Given the description of an element on the screen output the (x, y) to click on. 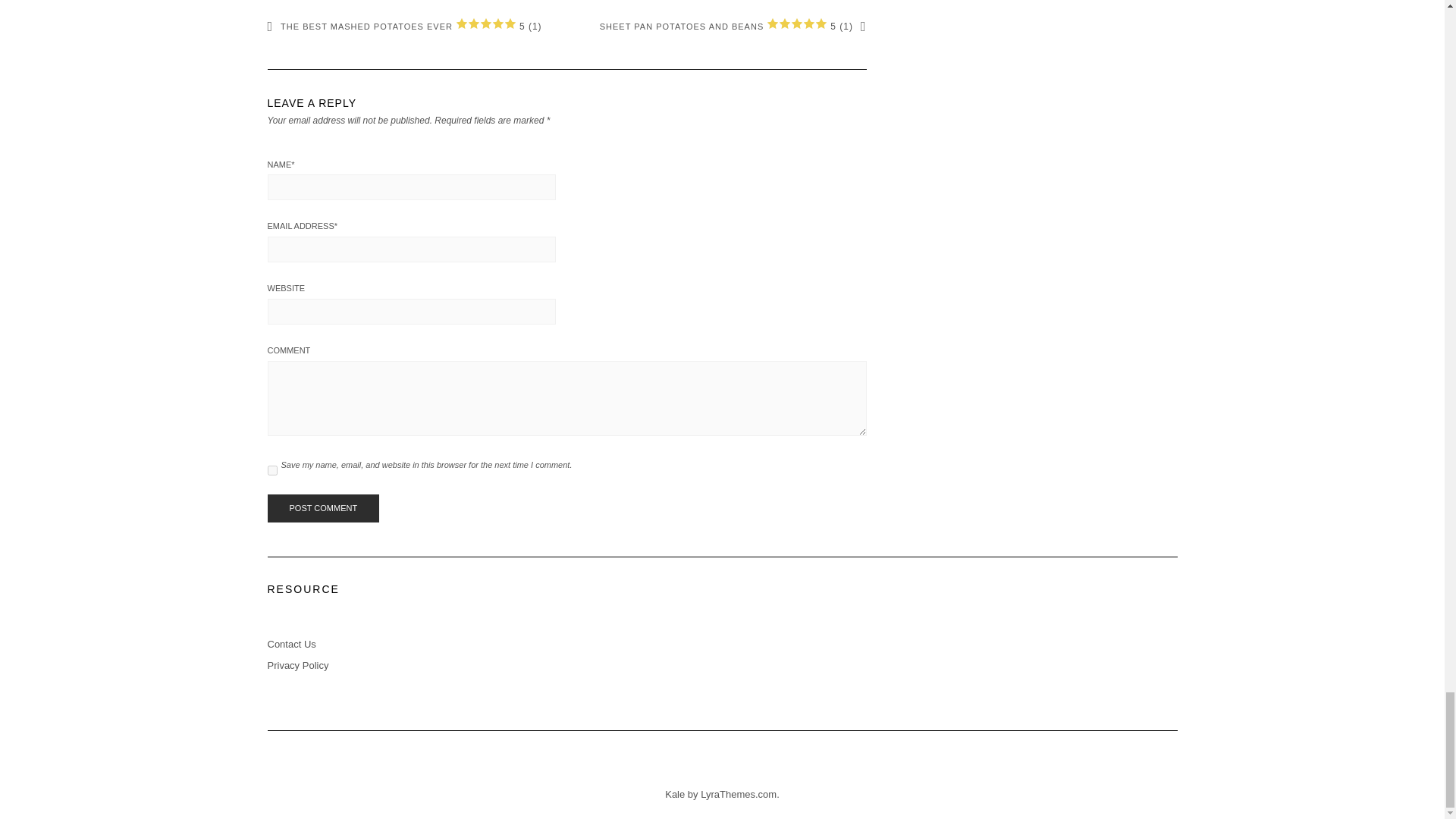
yes (271, 470)
Post Comment (322, 508)
